Given the description of an element on the screen output the (x, y) to click on. 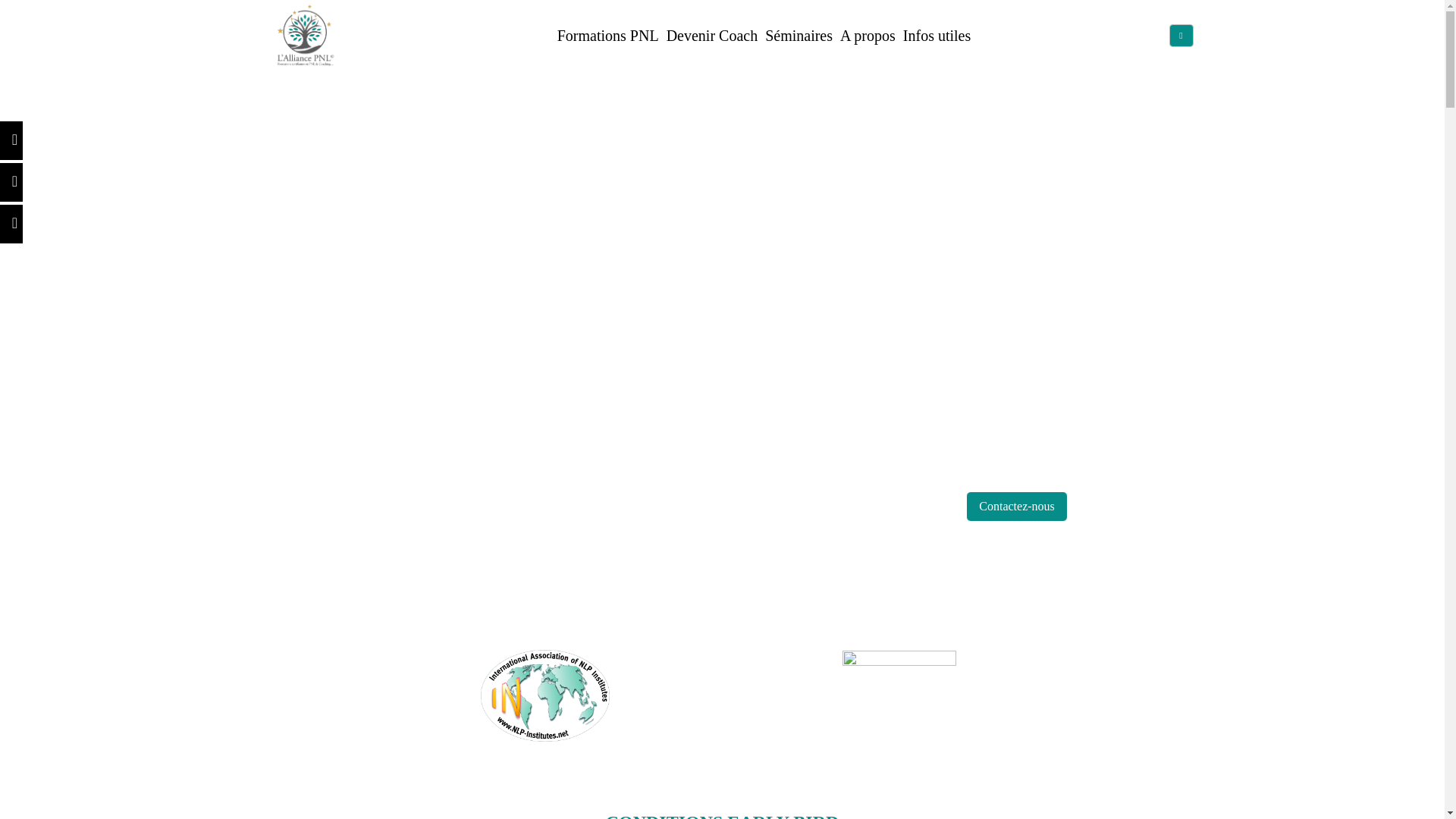
Infos utiles Element type: text (936, 35)
Devenir Coach Element type: text (712, 35)
L'alliance PNL Element type: hover (304, 35)
Formations PNL Element type: text (607, 35)
A propos Element type: text (867, 35)
Contactez-nous Element type: text (1016, 506)
